Given the description of an element on the screen output the (x, y) to click on. 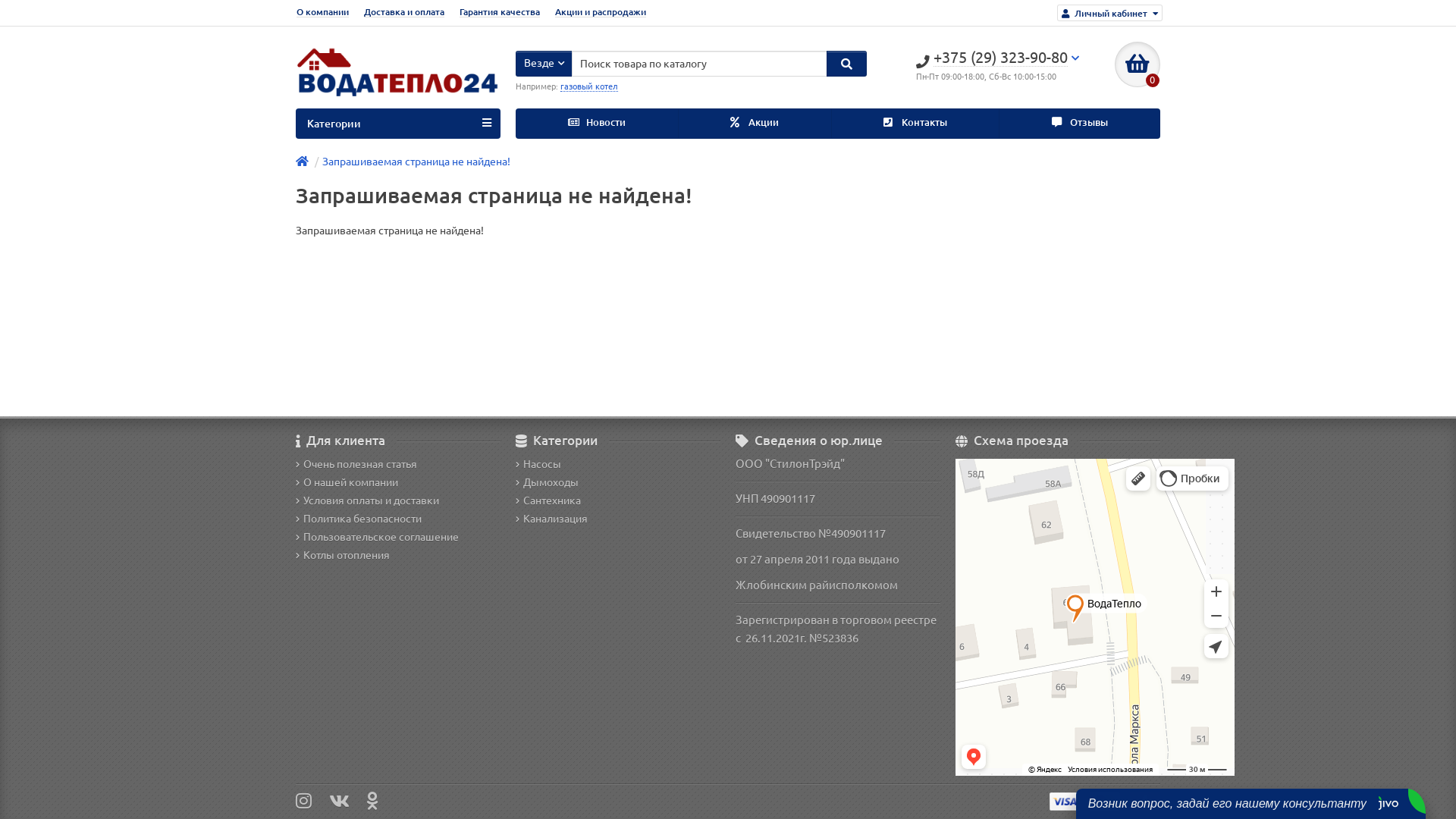
Vodateplo24 By Element type: hover (397, 76)
0 Element type: text (1137, 64)
